Given the description of an element on the screen output the (x, y) to click on. 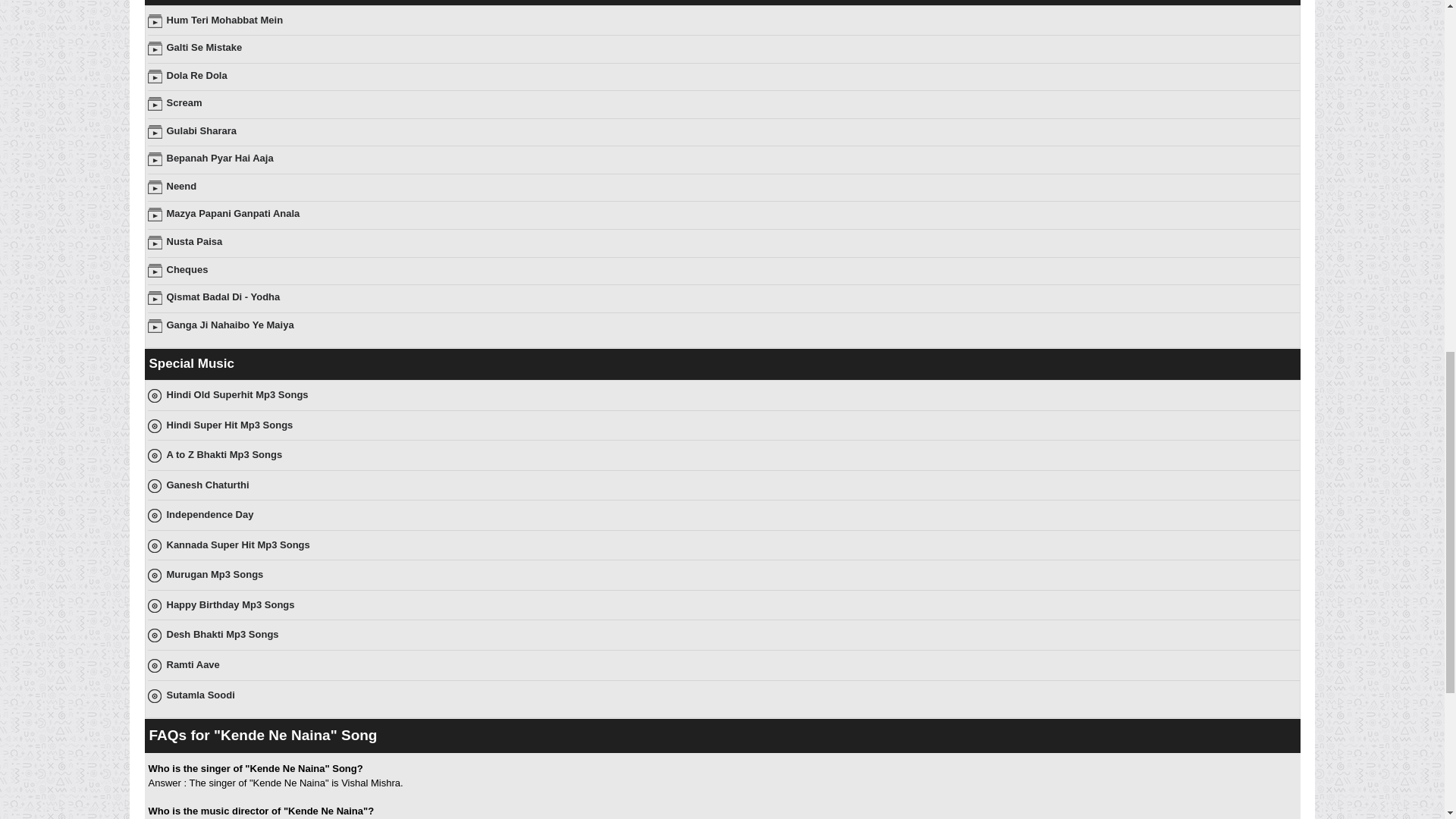
Independence Day (210, 514)
Ganga Ji Nahaibo Ye Maiya (230, 324)
Hindi Old Superhit Mp3 Songs (237, 394)
Bepanah Pyar Hai Aaja (220, 157)
Murugan Mp3 Songs (215, 573)
Scream (184, 102)
Hum Teri Mohabbat Mein (225, 19)
Neend (181, 185)
Ganesh Chaturthi (207, 484)
Galti Se Mistake (205, 47)
Qismat Badal Di - Yodha (224, 296)
Hindi Super Hit Mp3 Songs (230, 424)
Galti Se Mistake (205, 47)
A to Z Bhakti Mp3 Songs (224, 454)
Hum Teri Mohabbat Mein (225, 19)
